Given the description of an element on the screen output the (x, y) to click on. 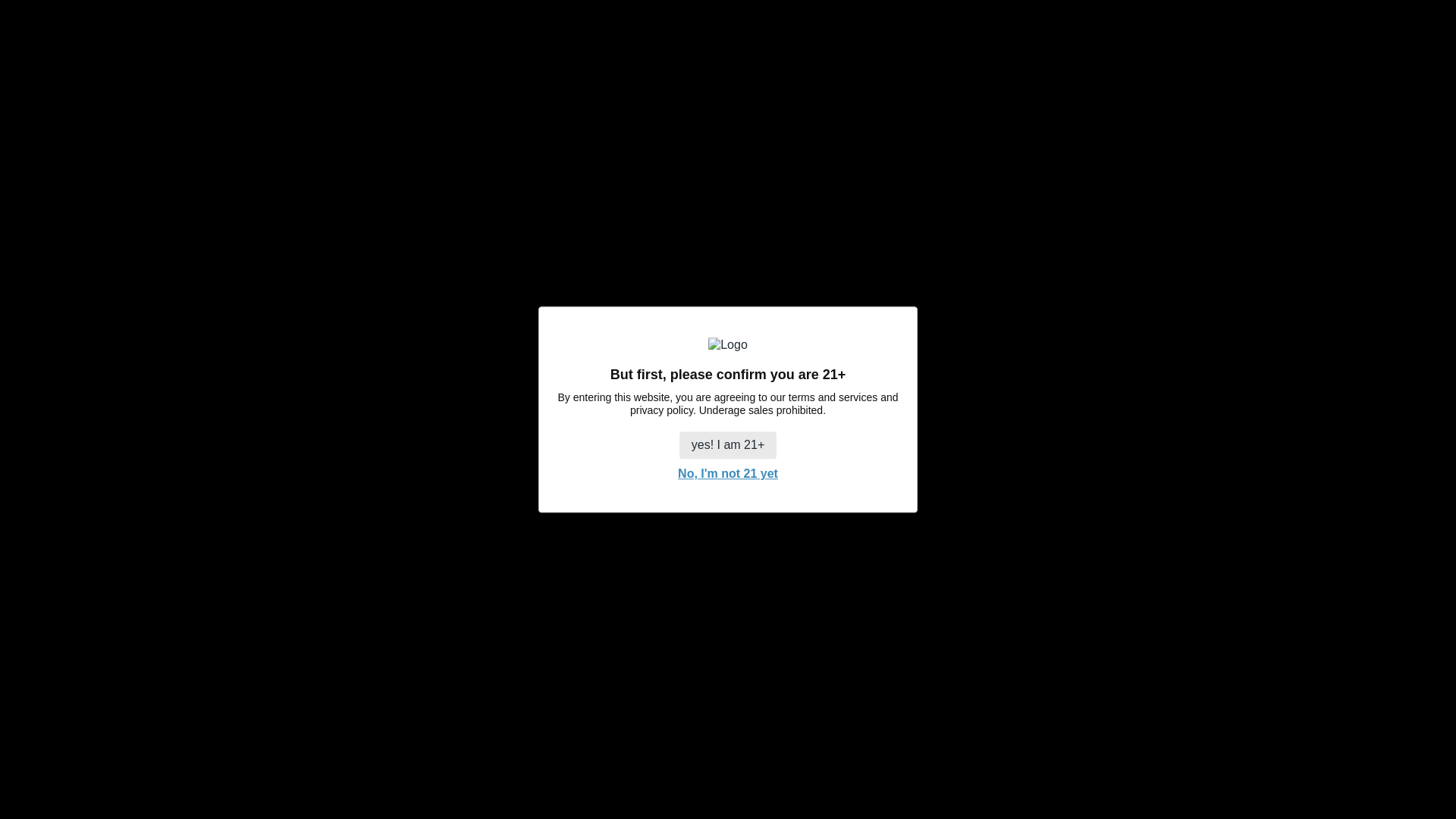
Home (593, 68)
Search (1337, 67)
Log in (1366, 68)
Flower Tamping Stick (856, 436)
Shop (648, 68)
Resources (719, 68)
Cart (1397, 68)
About (789, 68)
Contact (852, 68)
No, I'm not 21 yet (727, 473)
